Given the description of an element on the screen output the (x, y) to click on. 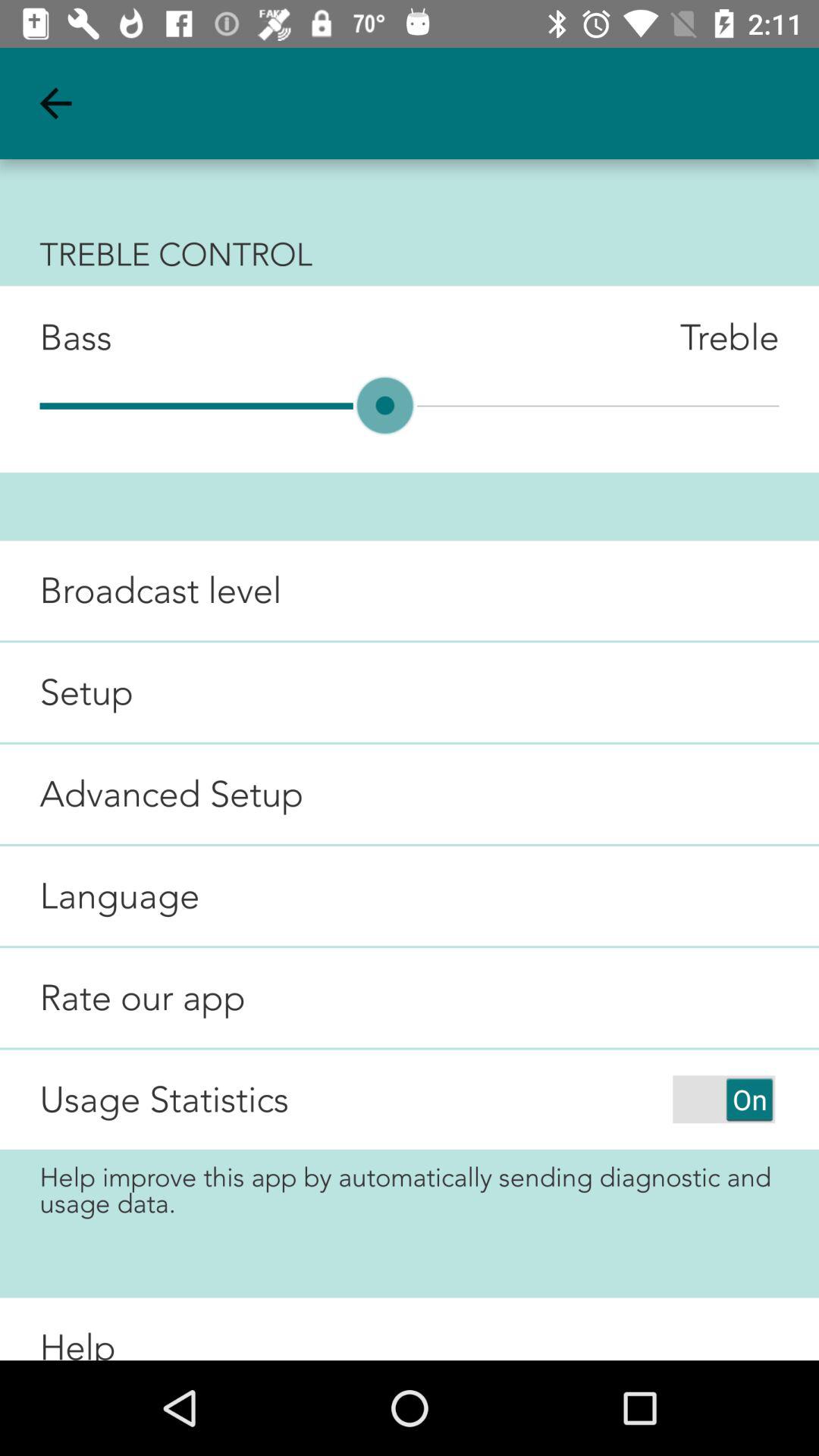
press icon to the right of the usage statistics (723, 1099)
